Given the description of an element on the screen output the (x, y) to click on. 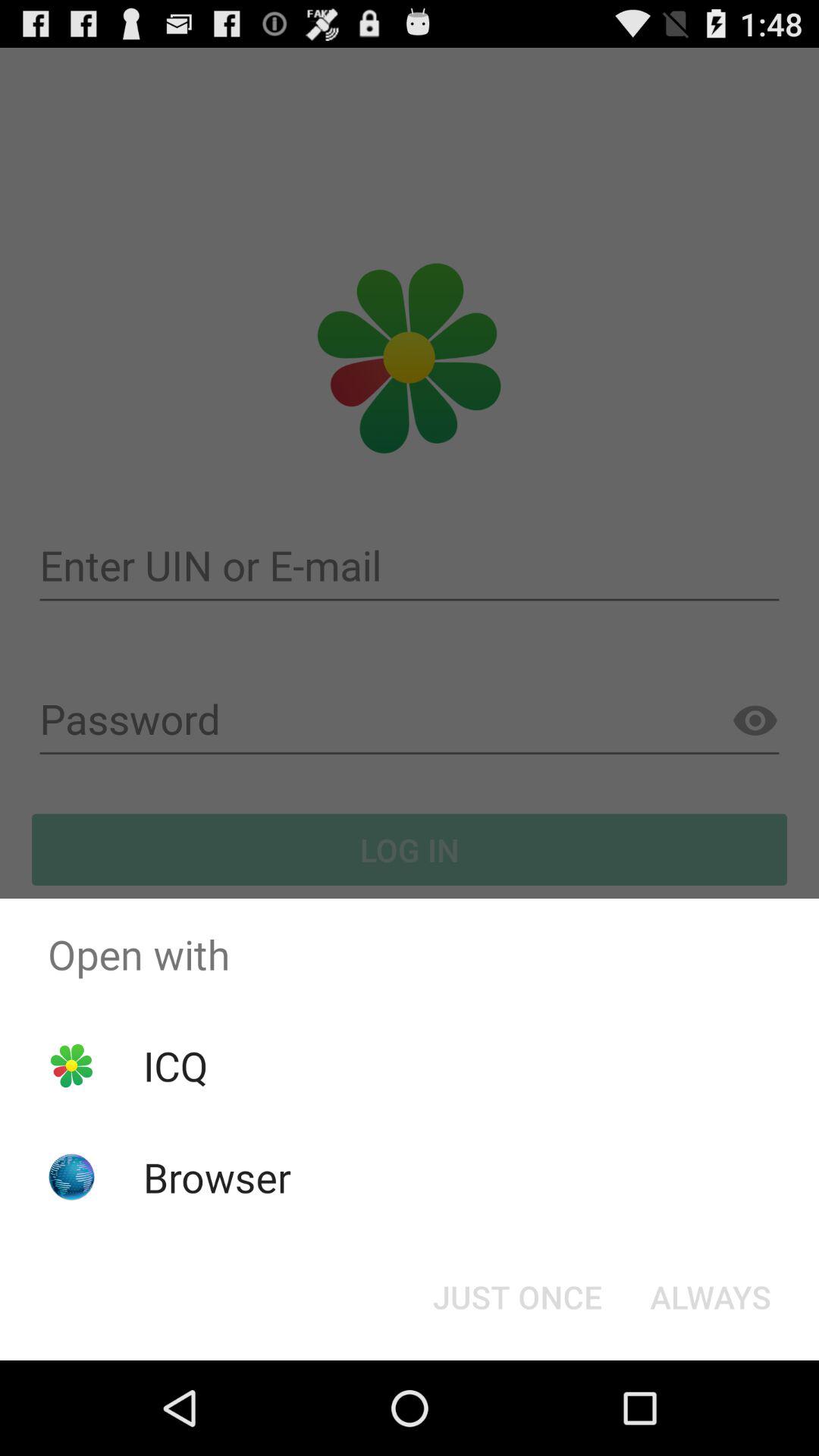
tap item below open with icon (517, 1296)
